Given the description of an element on the screen output the (x, y) to click on. 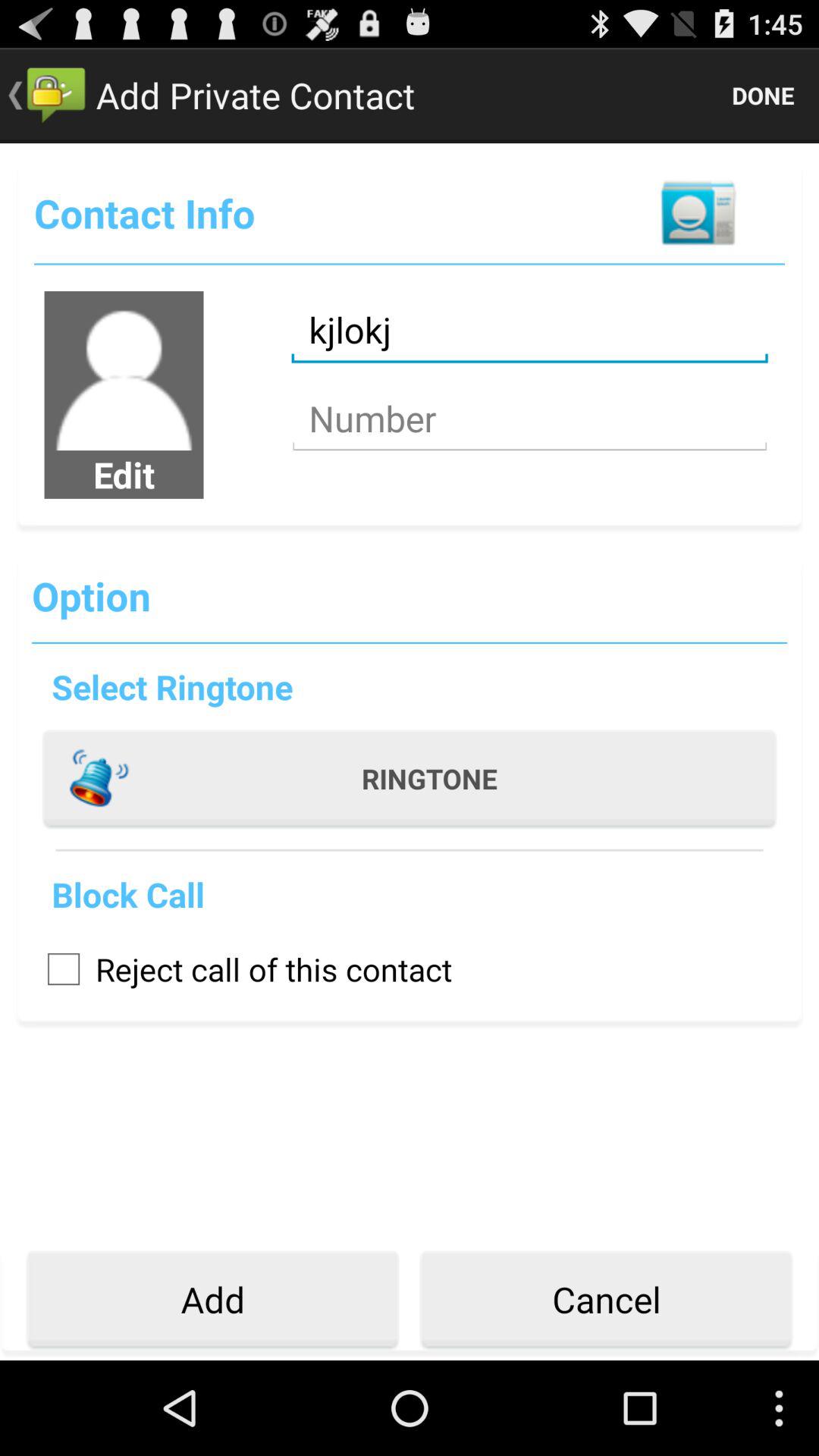
turn on the edit icon (123, 474)
